Given the description of an element on the screen output the (x, y) to click on. 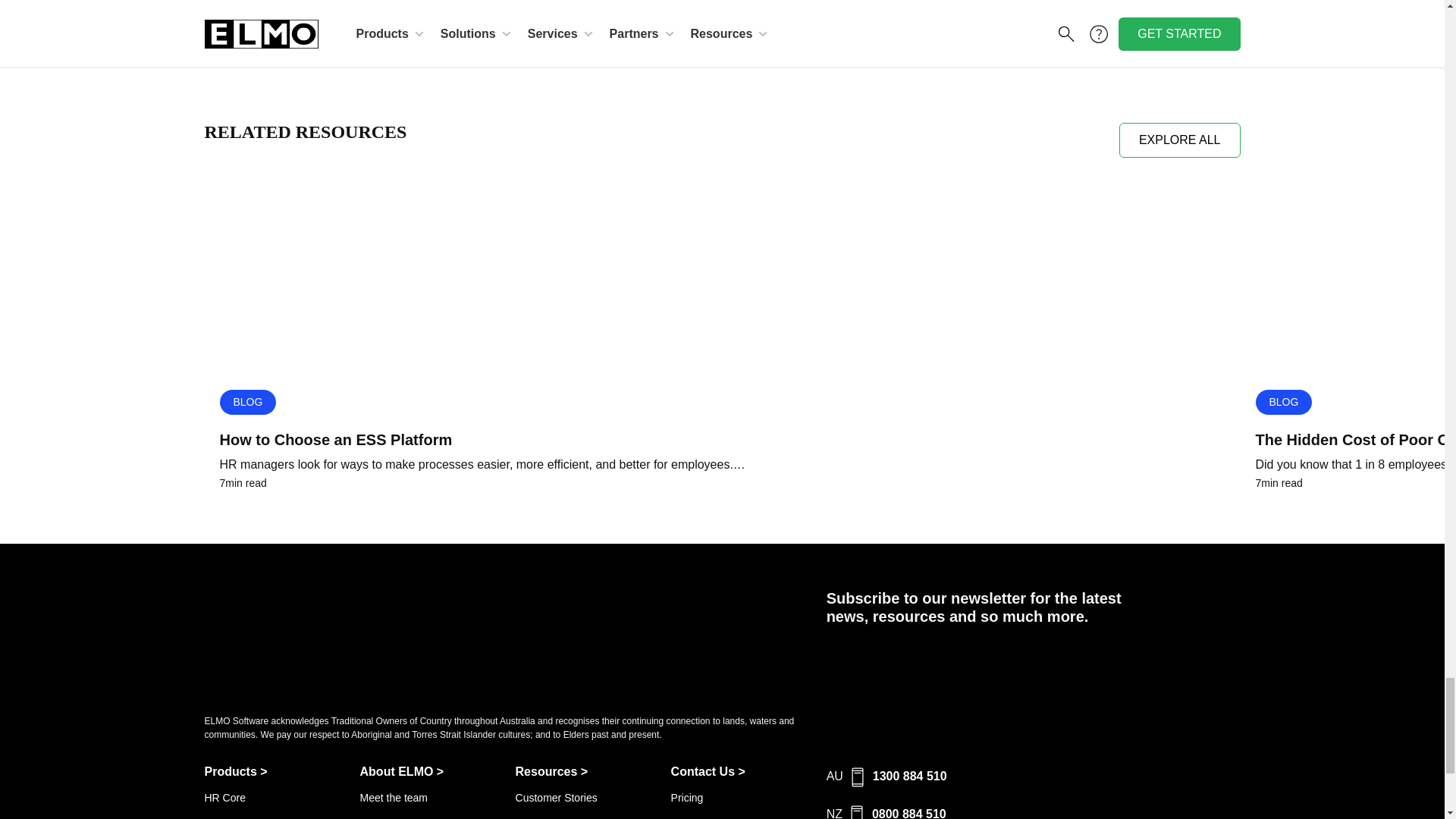
How to Choose an ESS Platform (722, 278)
How to Choose an ESS Platform (722, 439)
